Given the description of an element on the screen output the (x, y) to click on. 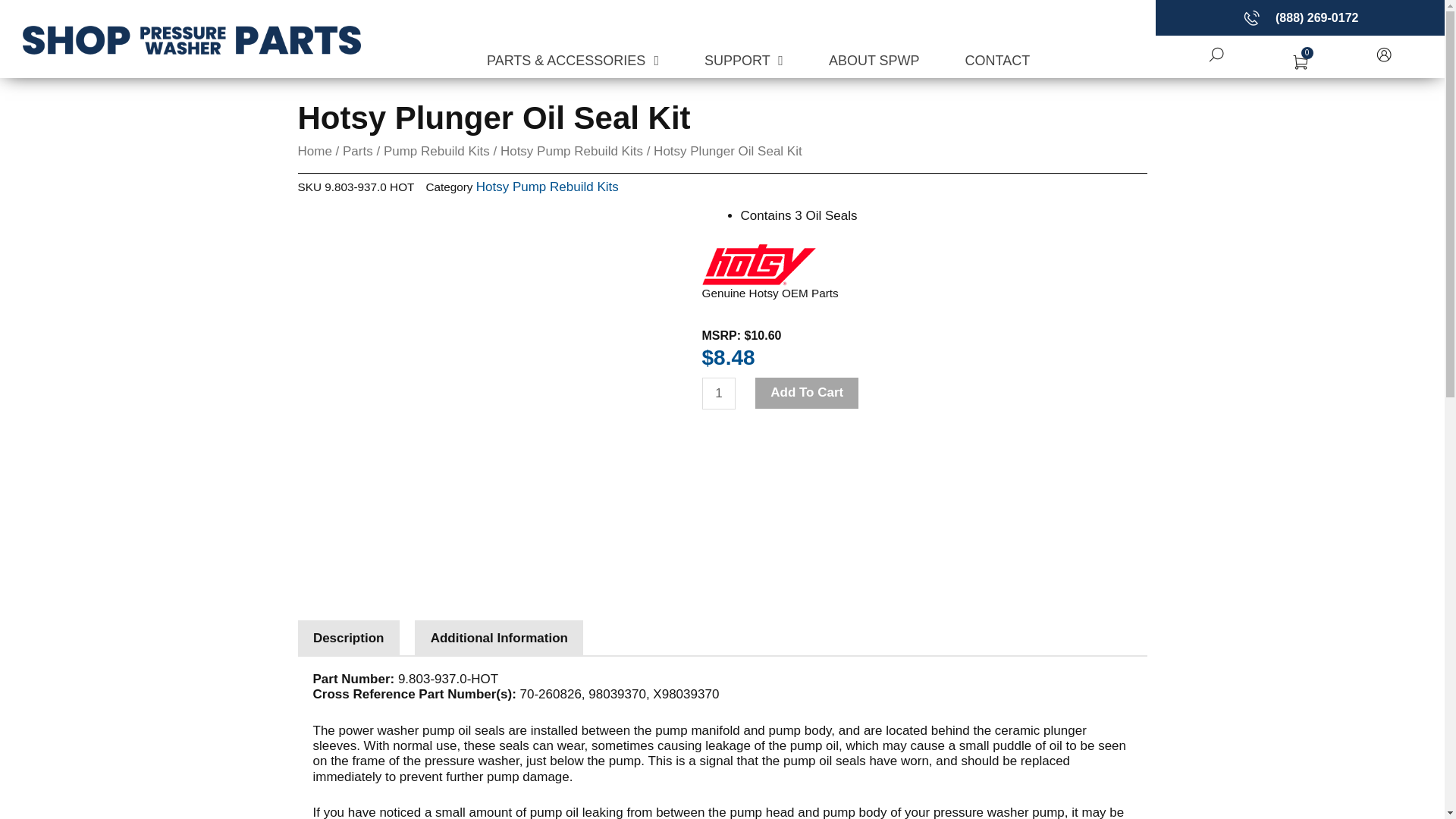
Cart (1299, 61)
1 (718, 392)
Search (1216, 54)
Call Today (1250, 17)
Account (1383, 54)
SUPPORT (742, 60)
